Given the description of an element on the screen output the (x, y) to click on. 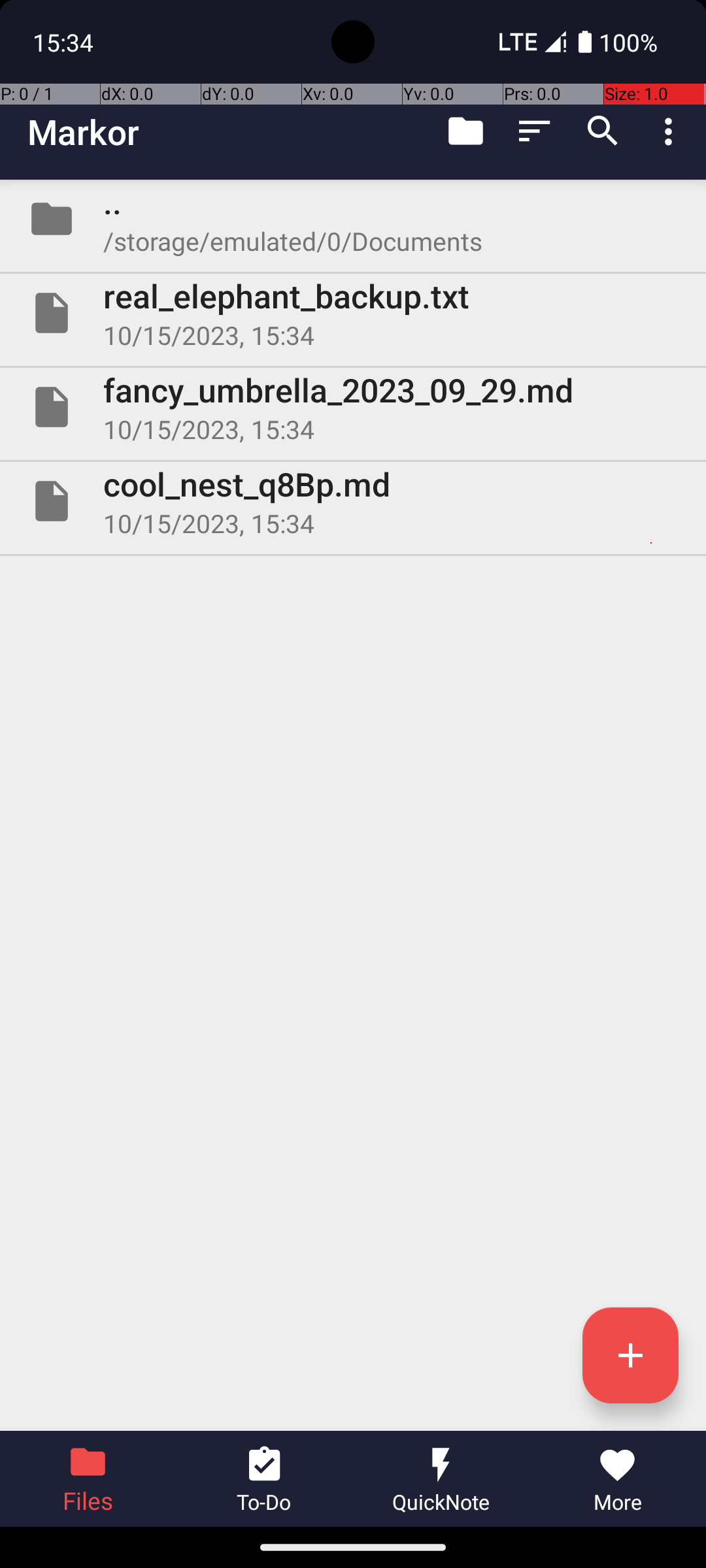
File real_elephant_backup.txt 10/15/2023, 15:34 Element type: android.widget.LinearLayout (353, 312)
File fancy_umbrella_2023_09_29.md 10/15/2023, 15:34 Element type: android.widget.LinearLayout (353, 406)
File cool_nest_q8Bp.md 10/15/2023, 15:34 Element type: android.widget.LinearLayout (353, 500)
